Given the description of an element on the screen output the (x, y) to click on. 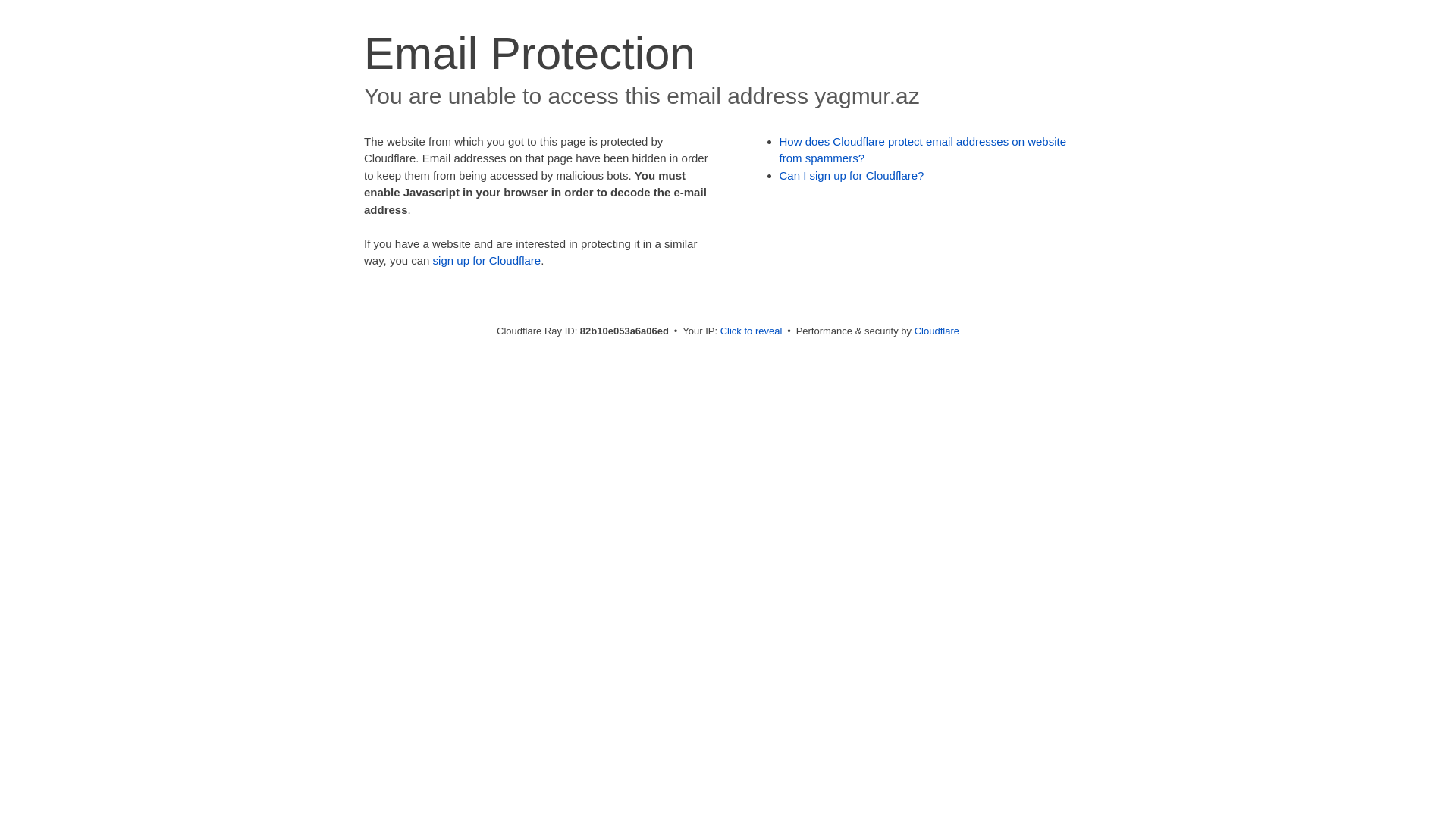
Can I sign up for Cloudflare? Element type: text (851, 175)
Cloudflare Element type: text (936, 330)
sign up for Cloudflare Element type: text (487, 260)
Click to reveal Element type: text (751, 330)
